Given the description of an element on the screen output the (x, y) to click on. 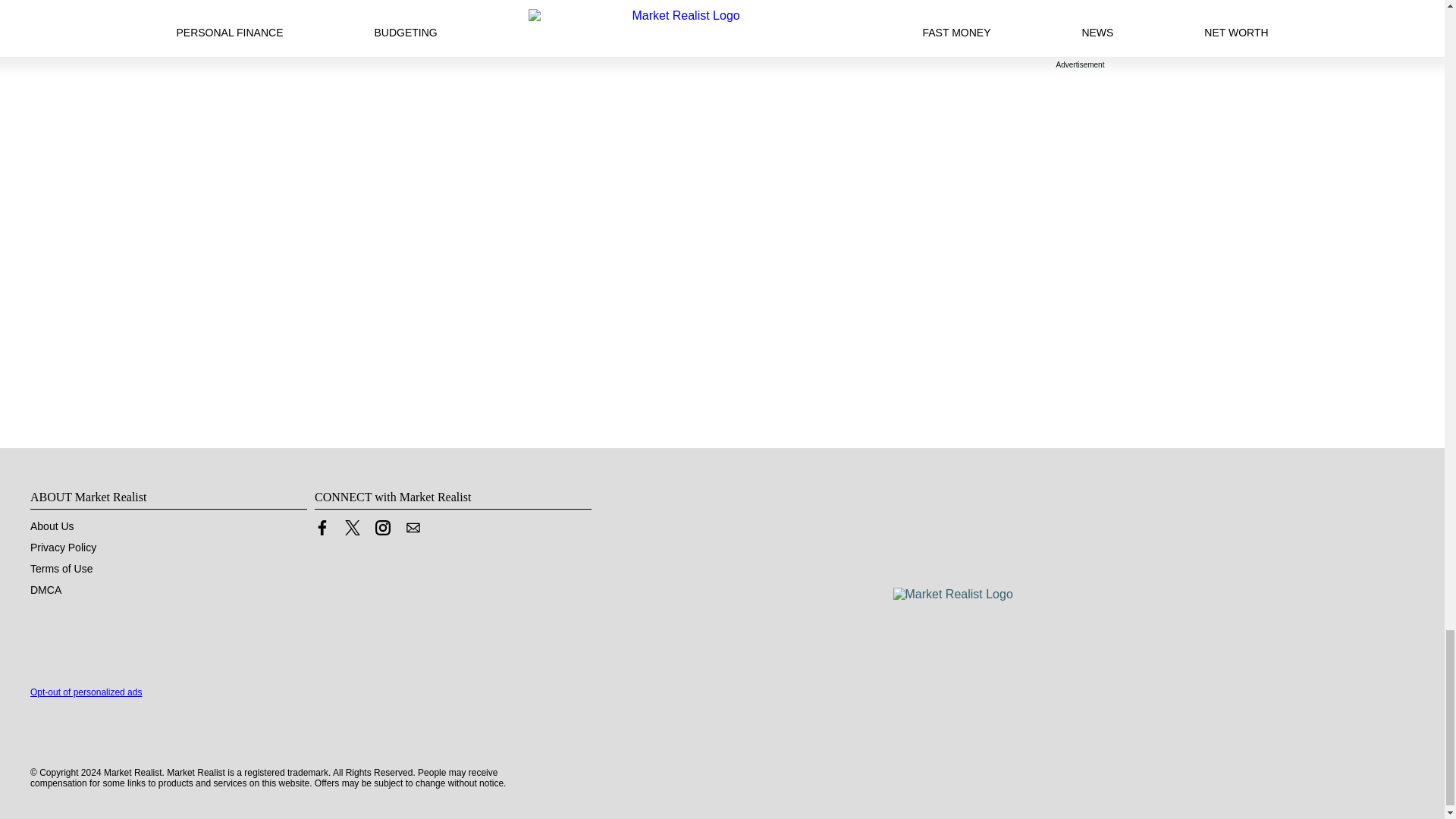
About Us (52, 526)
DMCA (45, 589)
Link to X (352, 531)
Opt-out of personalized ads (85, 692)
Link to Facebook (322, 527)
Contact us by Email (413, 531)
Privacy Policy (63, 547)
Contact us by Email (413, 527)
Link to Facebook (322, 531)
Terms of Use (61, 568)
